Given the description of an element on the screen output the (x, y) to click on. 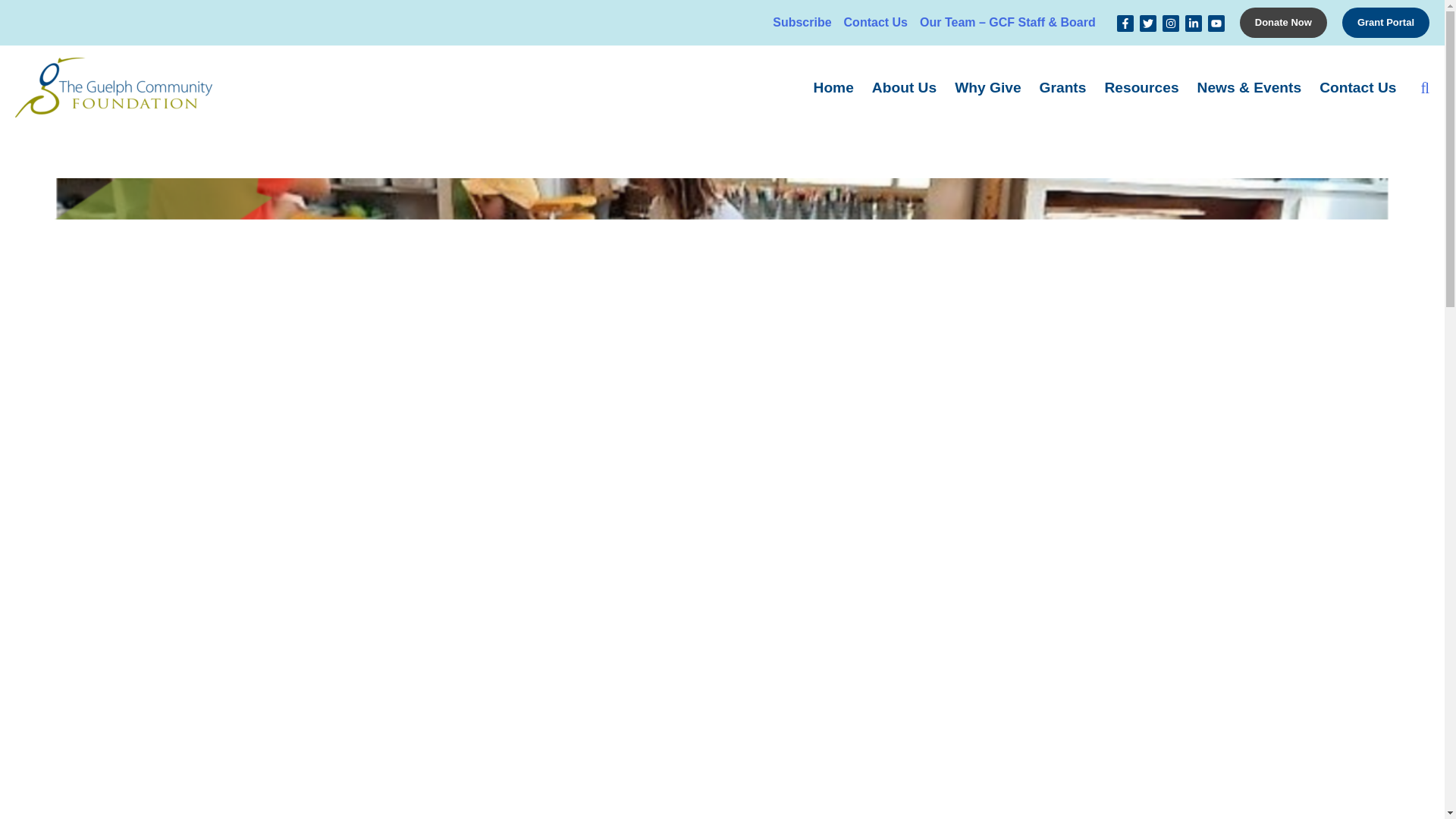
Donate Now (1283, 22)
About Us (903, 87)
Grants (1063, 87)
Resources (1141, 87)
Grant Portal (1385, 22)
Subscribe (802, 22)
Contact Us (876, 22)
Why Give (986, 87)
